Given the description of an element on the screen output the (x, y) to click on. 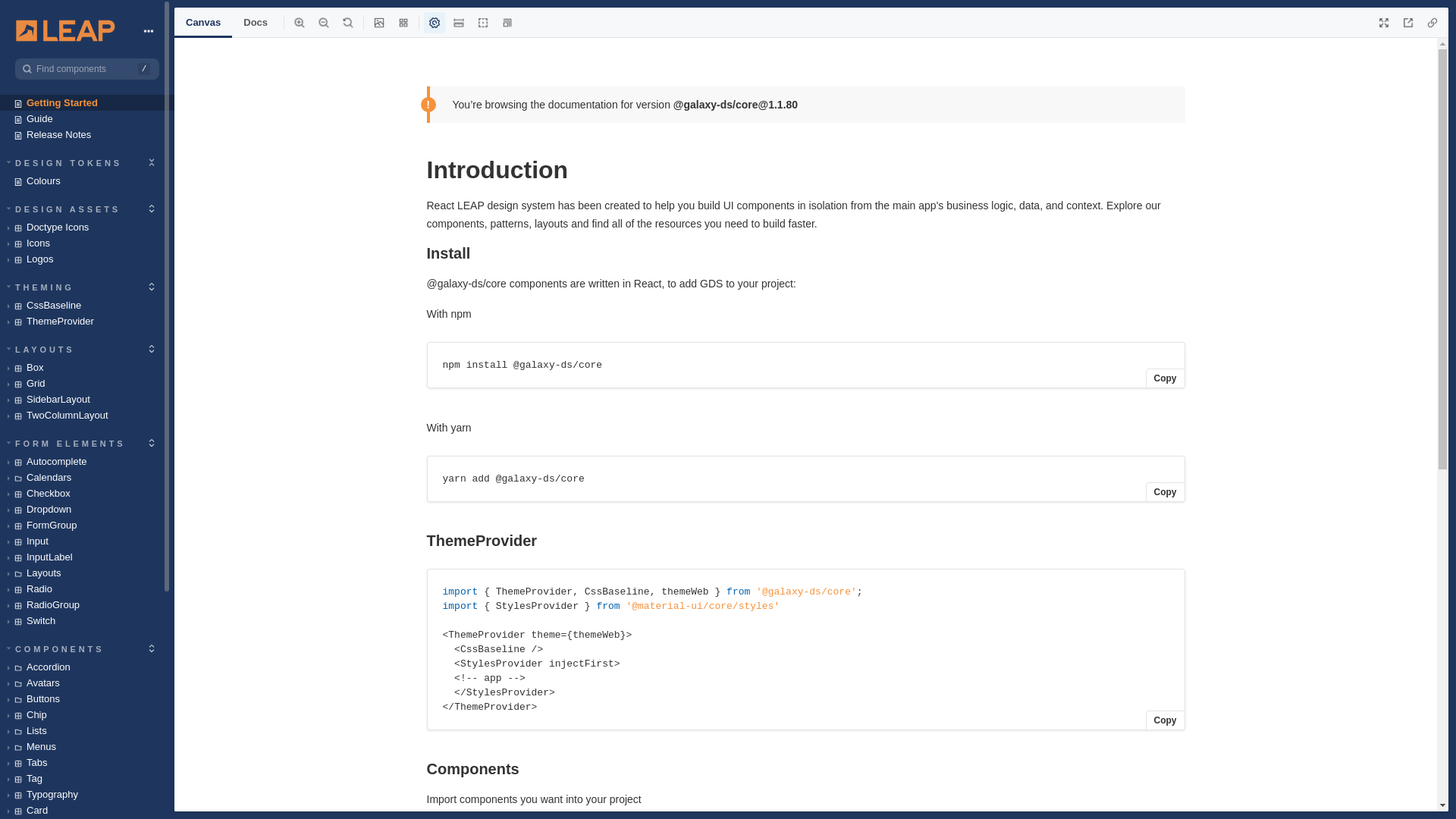
Zoom out Element type: hover (323, 22)
Tabs Element type: text (87, 762)
DESIGN ASSETS Element type: text (64, 208)
COMPONENTS Element type: text (55, 647)
Icons Element type: text (87, 243)
Lists Element type: text (87, 730)
Doctype Icons Element type: text (87, 227)
Avatars Element type: text (87, 682)
Accordion Element type: text (87, 666)
Reset zoom Element type: hover (347, 22)
CssBaseline Element type: text (87, 305)
Colours Element type: text (87, 180)
Autocomplete Element type: text (87, 461)
Go full screen [F] Element type: hover (1383, 22)
Checkbox Element type: text (87, 493)
ThemeProvider Element type: text (87, 321)
FORM ELEMENTS Element type: text (66, 442)
Dropdown Element type: text (87, 509)
Select LEAP Theme Element type: hover (434, 22)
TwoColumnLayout Element type: text (87, 415)
Zoom in Element type: hover (299, 22)
Release Notes Element type: text (87, 134)
Calendars Element type: text (87, 477)
storybook-preview-iframe Element type: hover (811, 424)
THEMING Element type: text (40, 286)
Grid Element type: text (87, 383)
Menus Element type: text (87, 746)
Change the size of the preview Element type: hover (506, 22)
Box Element type: text (87, 367)
Apply a grid to the preview Element type: hover (403, 22)
Tag Element type: text (87, 778)
Change the background of the preview Element type: hover (378, 22)
DESIGN TOKENS Element type: text (64, 161)
RadioGroup Element type: text (87, 604)
Docs Element type: text (255, 22)
LEAP Docs Element type: hover (65, 30)
Skip to canvas Element type: text (125, 102)
Buttons Element type: text (87, 698)
Open canvas in new tab Element type: hover (1407, 22)
Shortcuts Element type: hover (148, 29)
Layouts Element type: text (87, 572)
Input Element type: text (87, 541)
Copy canvas link Element type: hover (1432, 22)
SidebarLayout Element type: text (87, 399)
Canvas Element type: text (203, 22)
Apply outlines to the preview Element type: hover (482, 22)
Guide Element type: text (87, 118)
Logos Element type: text (87, 258)
FormGroup Element type: text (87, 525)
Switch Element type: text (87, 620)
Enable measure Element type: hover (458, 22)
Typography Element type: text (87, 794)
Chip Element type: text (87, 714)
Card Element type: text (87, 810)
InputLabel Element type: text (87, 556)
Radio Element type: text (87, 588)
LAYOUTS Element type: text (41, 348)
Getting Started Element type: text (87, 102)
